Given the description of an element on the screen output the (x, y) to click on. 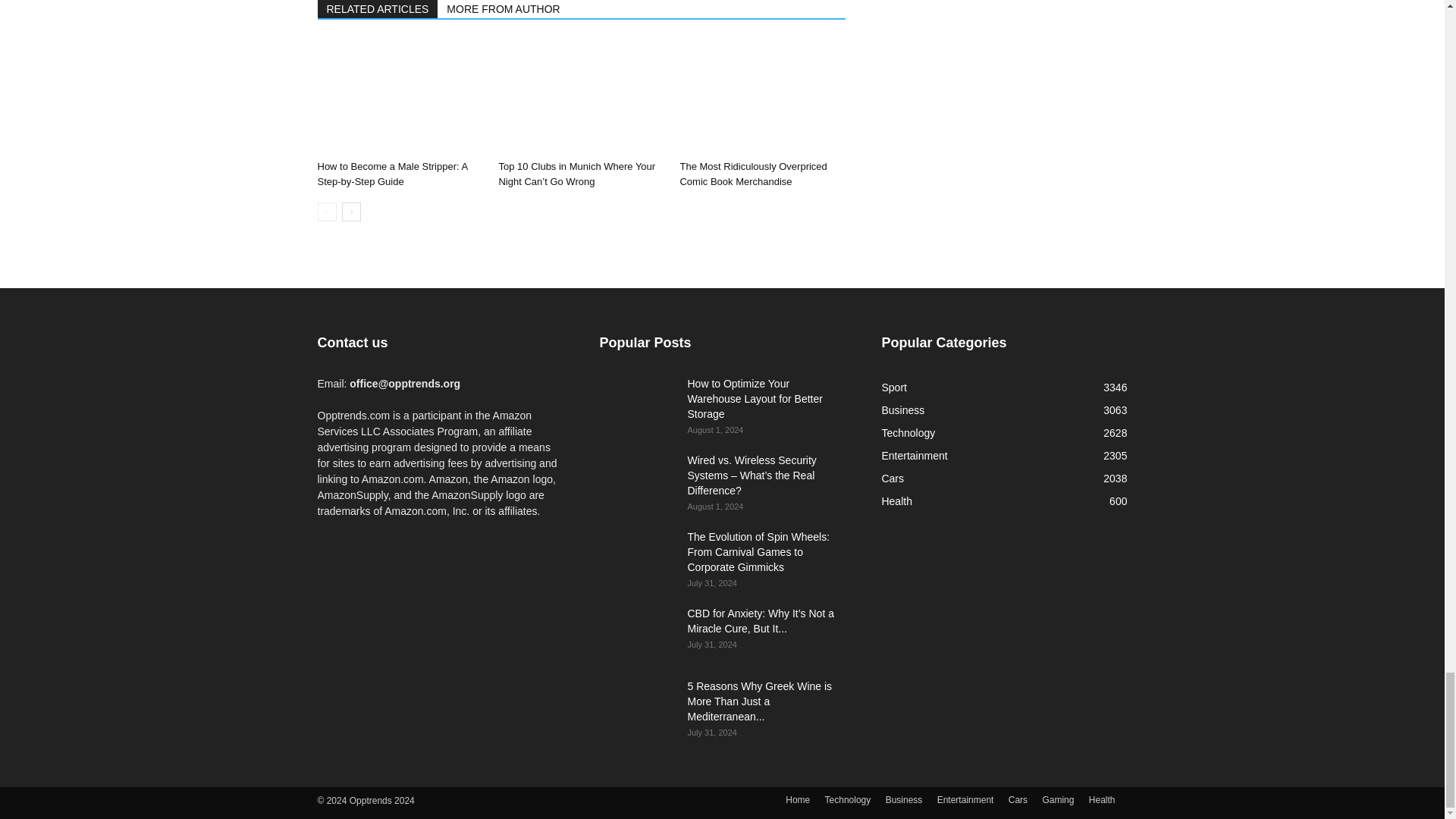
How to Become a Male Stripper: A Step-by-Step Guide (392, 173)
The Most Ridiculously Overpriced Comic Book Merchandise (761, 96)
How to Become a Male Stripper: A Step-by-Step Guide (399, 96)
